Given the description of an element on the screen output the (x, y) to click on. 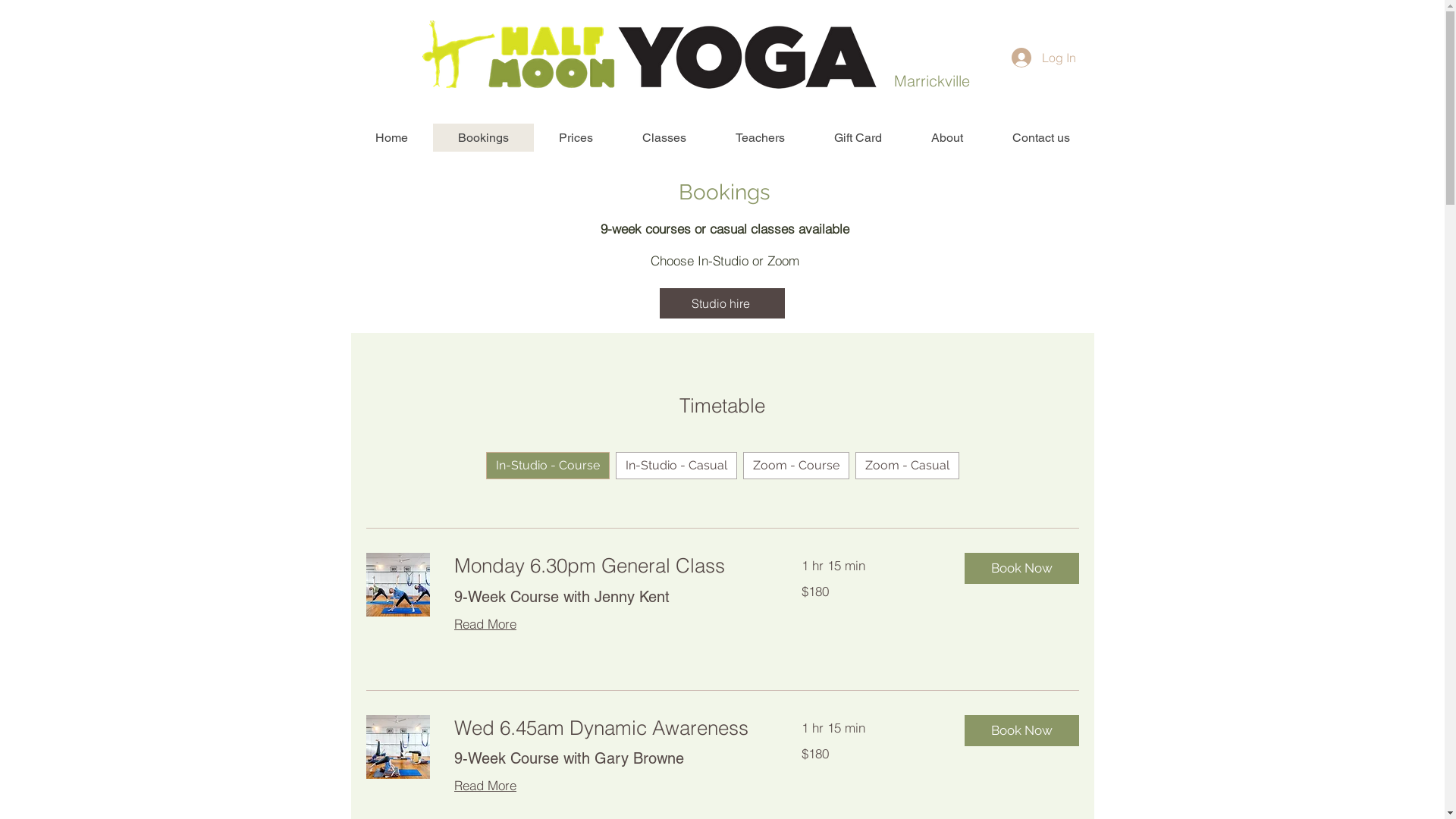
Contact us Element type: text (1040, 137)
Log In Element type: text (1043, 57)
Classes Element type: text (663, 137)
Prices Element type: text (575, 137)
Teachers Element type: text (758, 137)
Read More Element type: text (484, 623)
About Element type: text (945, 137)
Read More Element type: text (484, 785)
Wed 6.45am Dynamic Awareness Element type: text (608, 728)
Book Now Element type: text (1021, 567)
Bookings Element type: text (482, 137)
Home Element type: text (391, 137)
Studio hire Element type: text (721, 303)
Gift Card Element type: text (856, 137)
Book Now Element type: text (1021, 730)
Monday 6.30pm General Class Element type: text (608, 565)
